Given the description of an element on the screen output the (x, y) to click on. 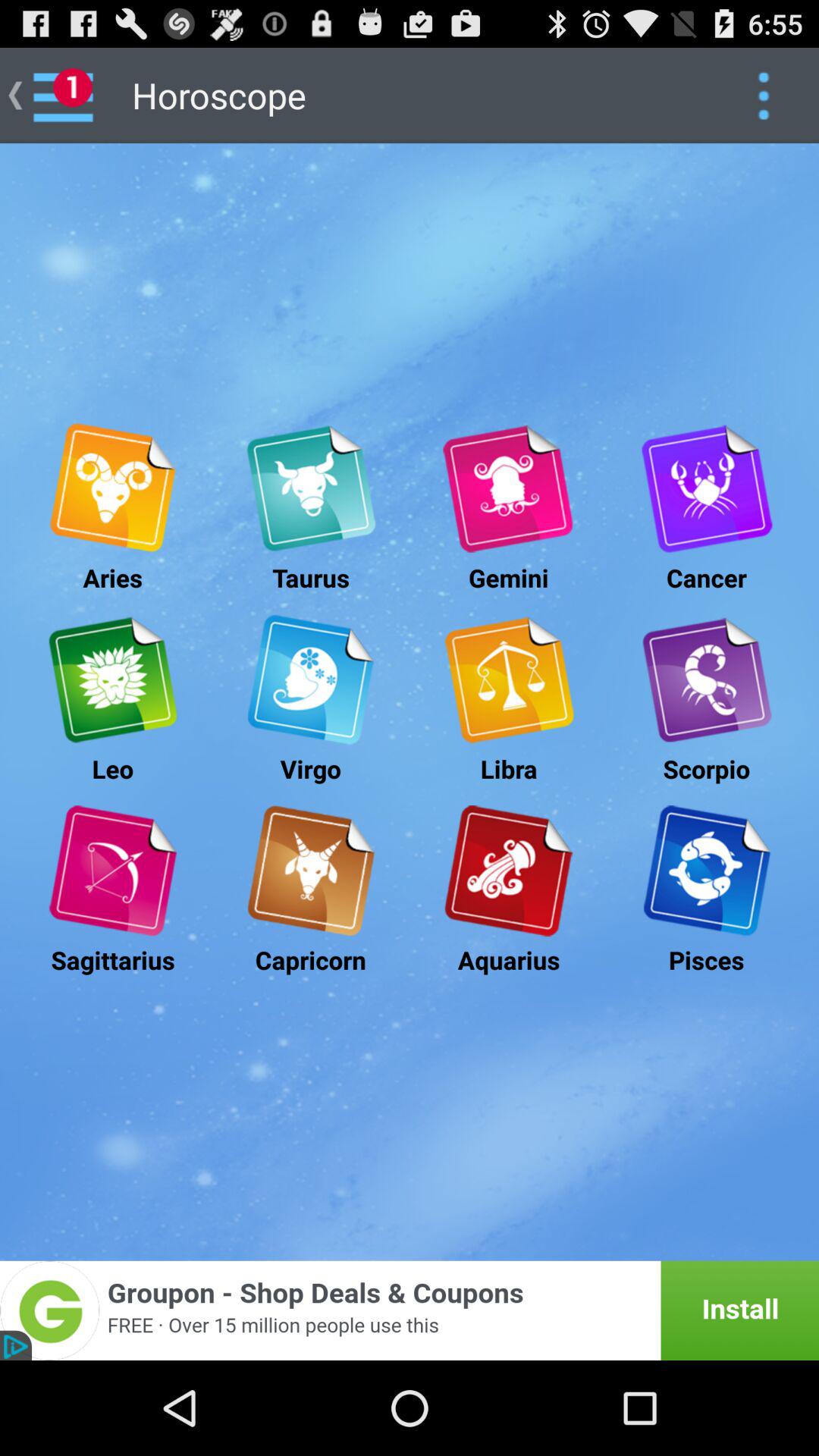
pick sagittarius (112, 870)
